Given the description of an element on the screen output the (x, y) to click on. 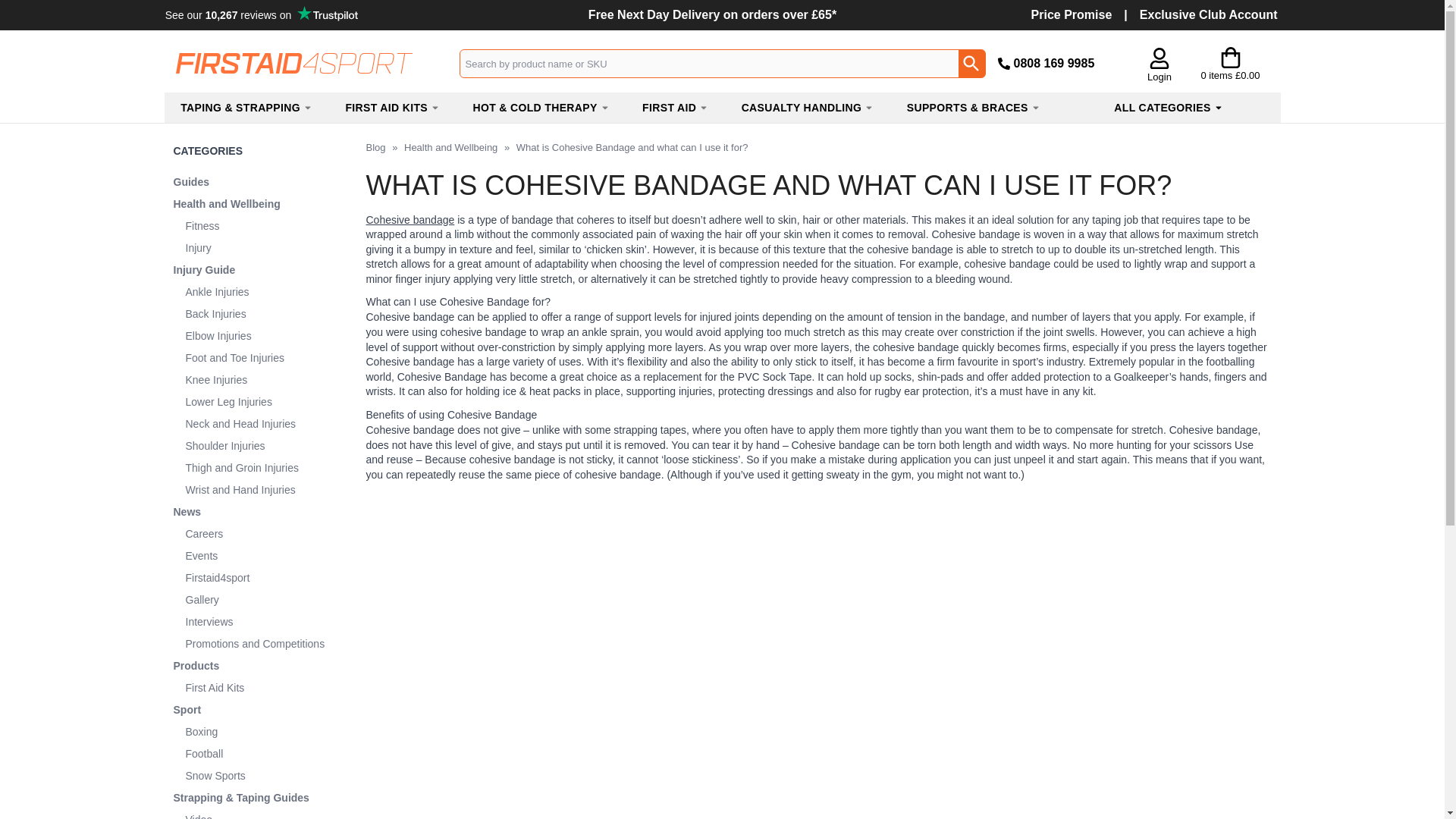
Call Firstaid4sport (1053, 62)
Price Promise (1071, 14)
Testimonials (262, 13)
Testimonials (262, 13)
0808 169 9985 (1053, 62)
Exclusive Club Account (1209, 14)
Customer reviews powered by Trustpilot (260, 15)
